Given the description of an element on the screen output the (x, y) to click on. 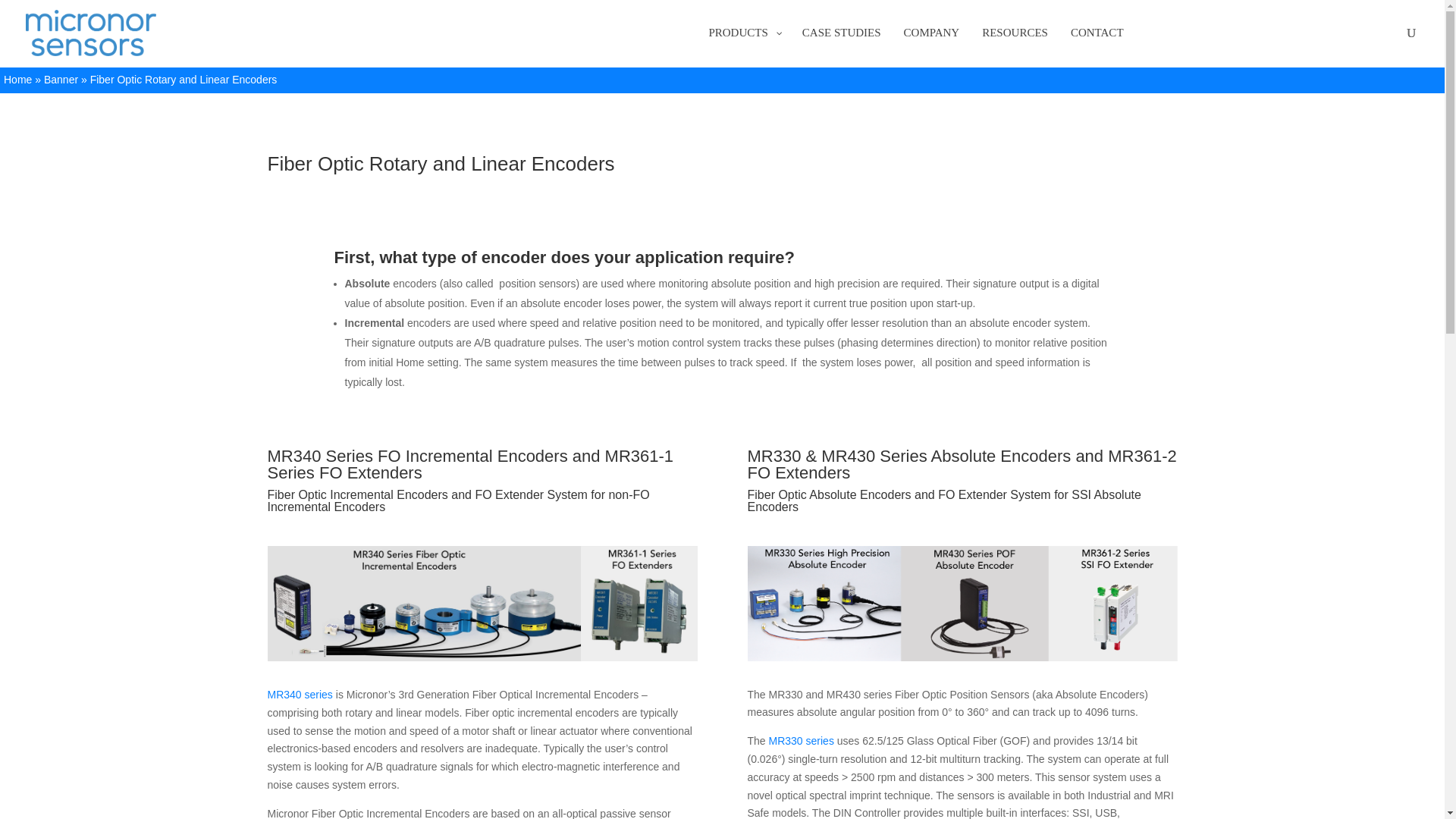
PRODUCTS (743, 46)
